Given the description of an element on the screen output the (x, y) to click on. 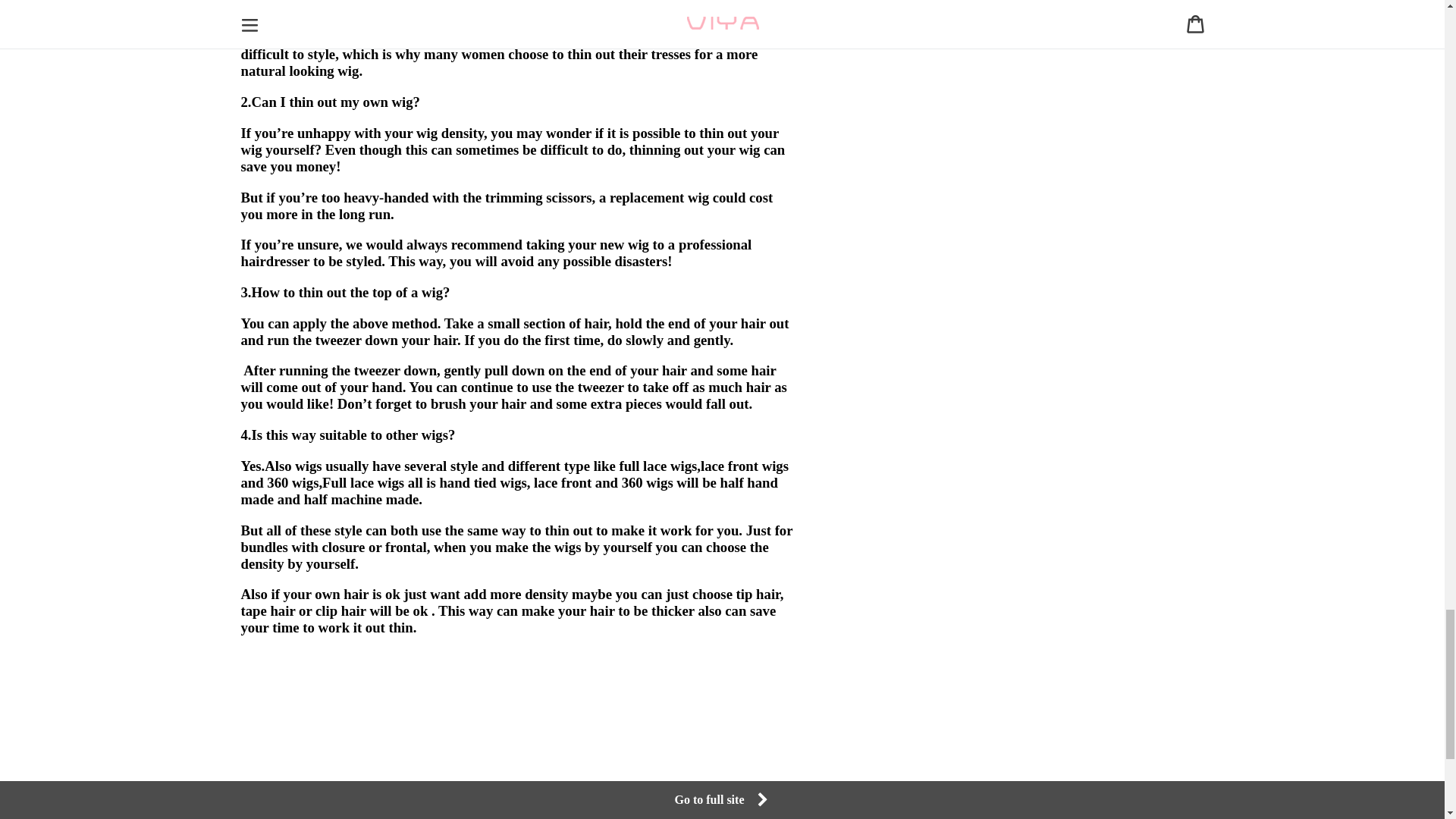
360 wigs (292, 482)
full lace wigs (657, 465)
